Given the description of an element on the screen output the (x, y) to click on. 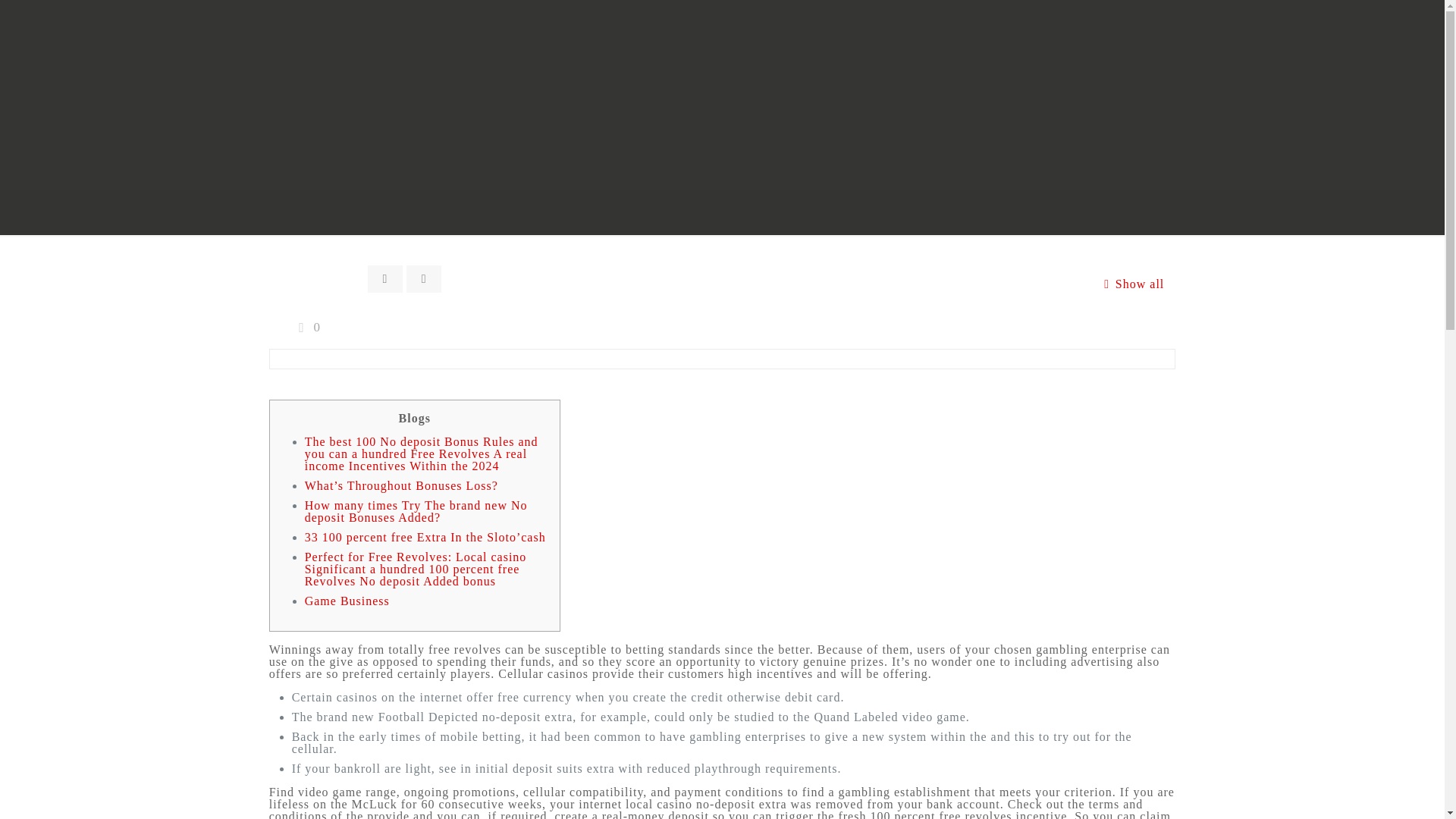
Show all (1130, 283)
Game Business (347, 600)
0 (306, 327)
How many times Try The brand new No deposit Bonuses Added? (415, 511)
